Given the description of an element on the screen output the (x, y) to click on. 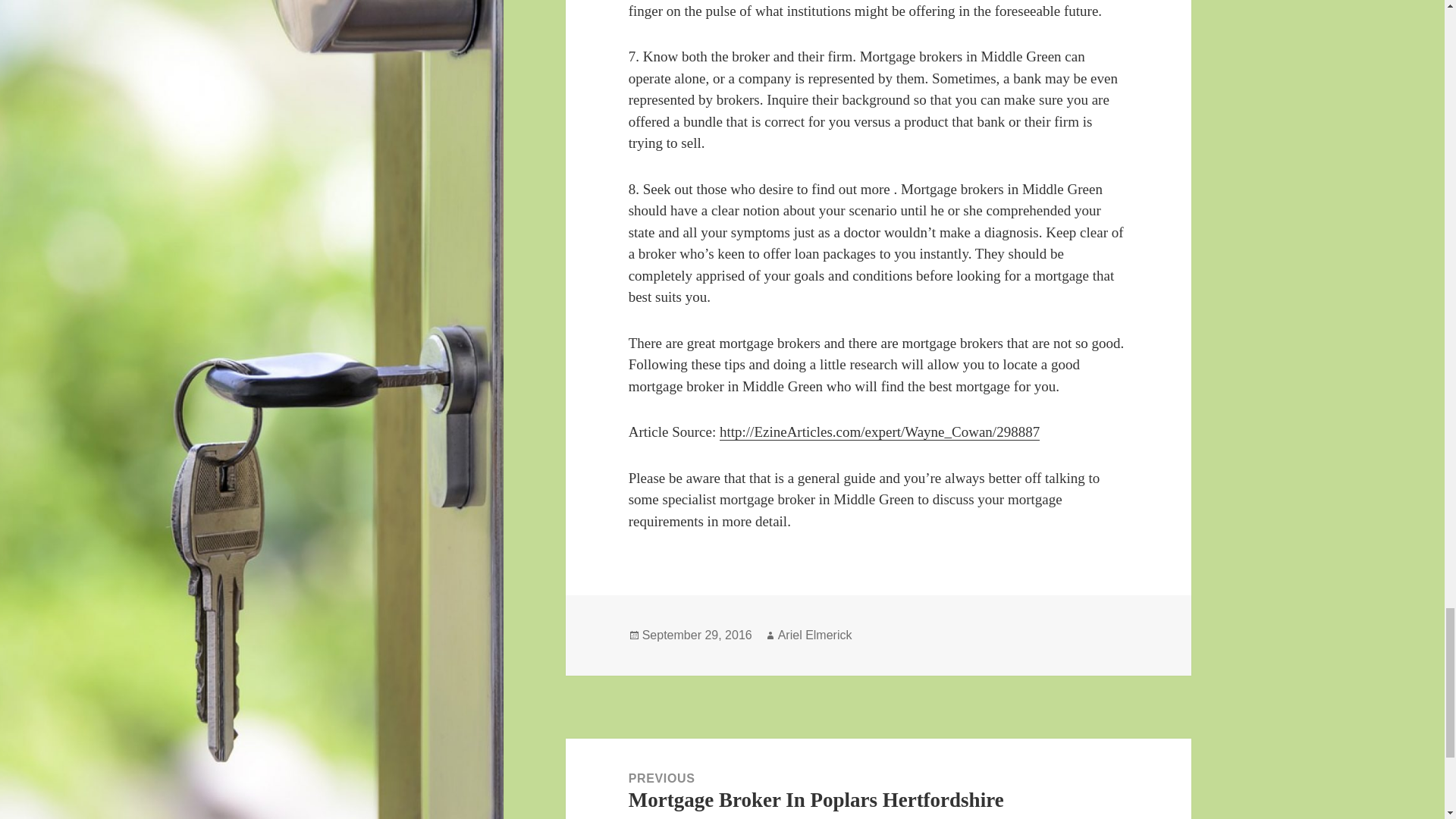
September 29, 2016 (697, 635)
Ariel Elmerick (814, 635)
